Given the description of an element on the screen output the (x, y) to click on. 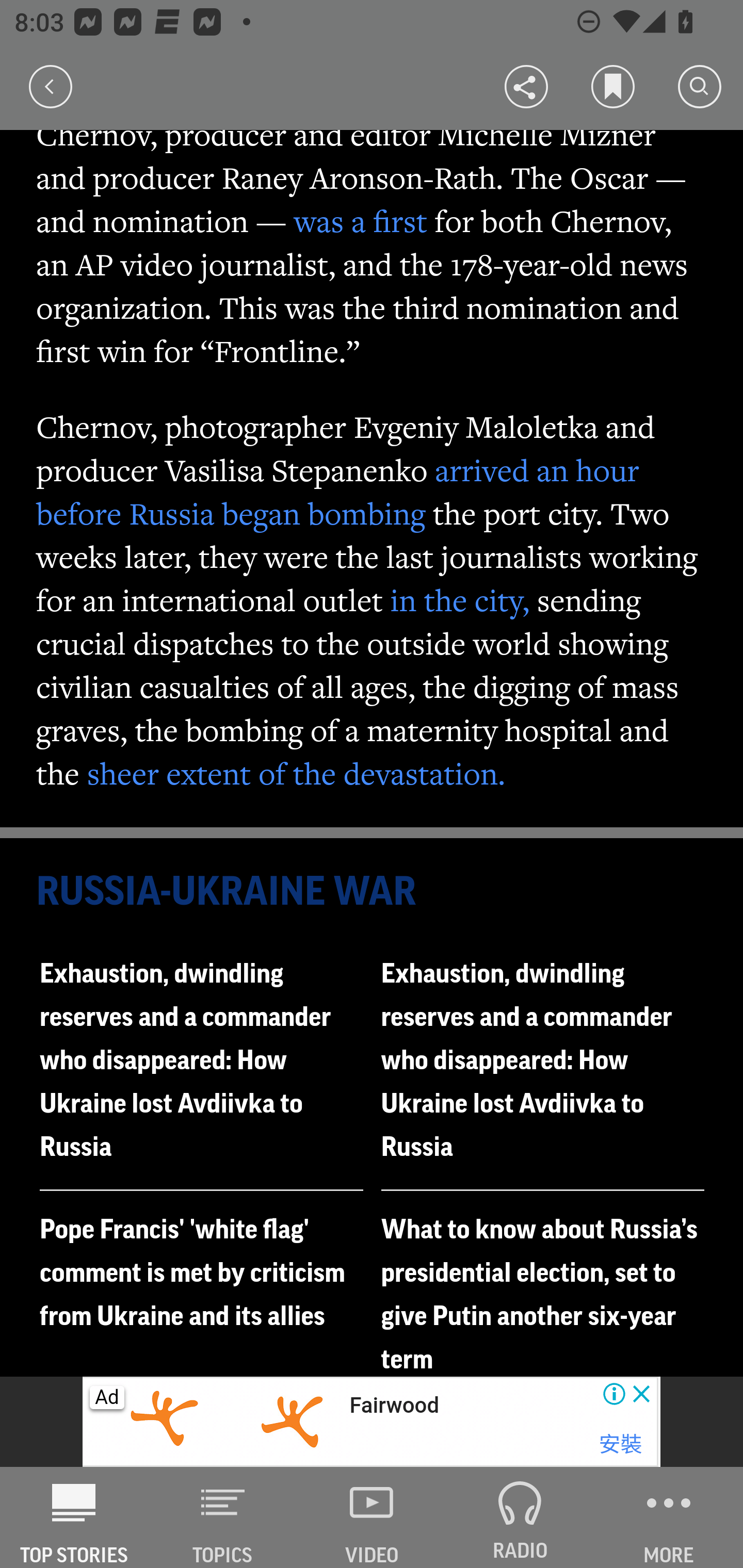
was a first (359, 221)
arrived an hour before Russia began bombing (338, 491)
in the city, (460, 599)
sheer extent of the devastation. (295, 772)
RUSSIA-UKRAINE WAR (372, 891)
Fairwood (393, 1405)
安裝 (620, 1444)
AP News TOP STORIES (74, 1517)
TOPICS (222, 1517)
VIDEO (371, 1517)
RADIO (519, 1517)
MORE (668, 1517)
